Given the description of an element on the screen output the (x, y) to click on. 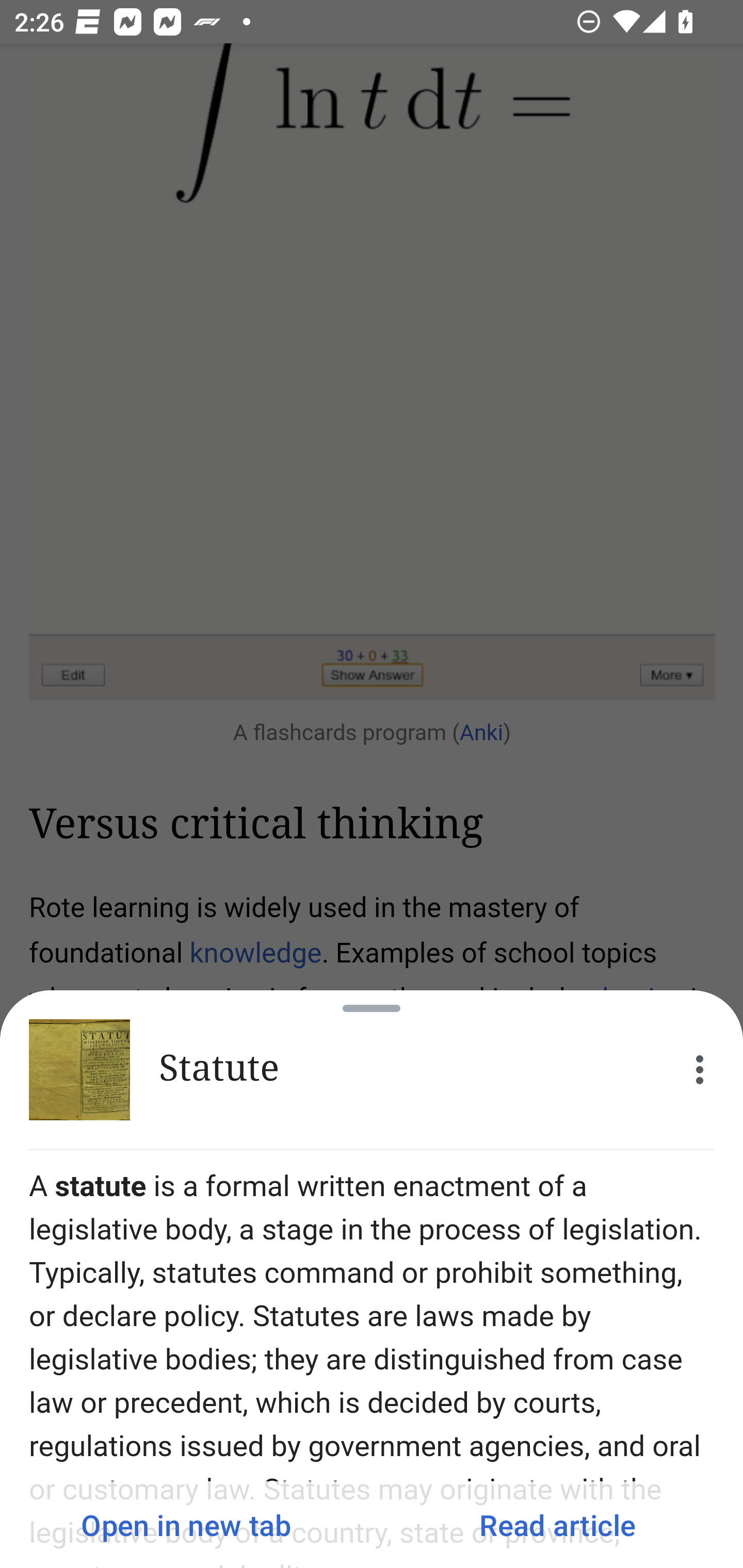
Statute More options (371, 1069)
More options (699, 1070)
Open in new tab (185, 1524)
Read article (557, 1524)
